Given the description of an element on the screen output the (x, y) to click on. 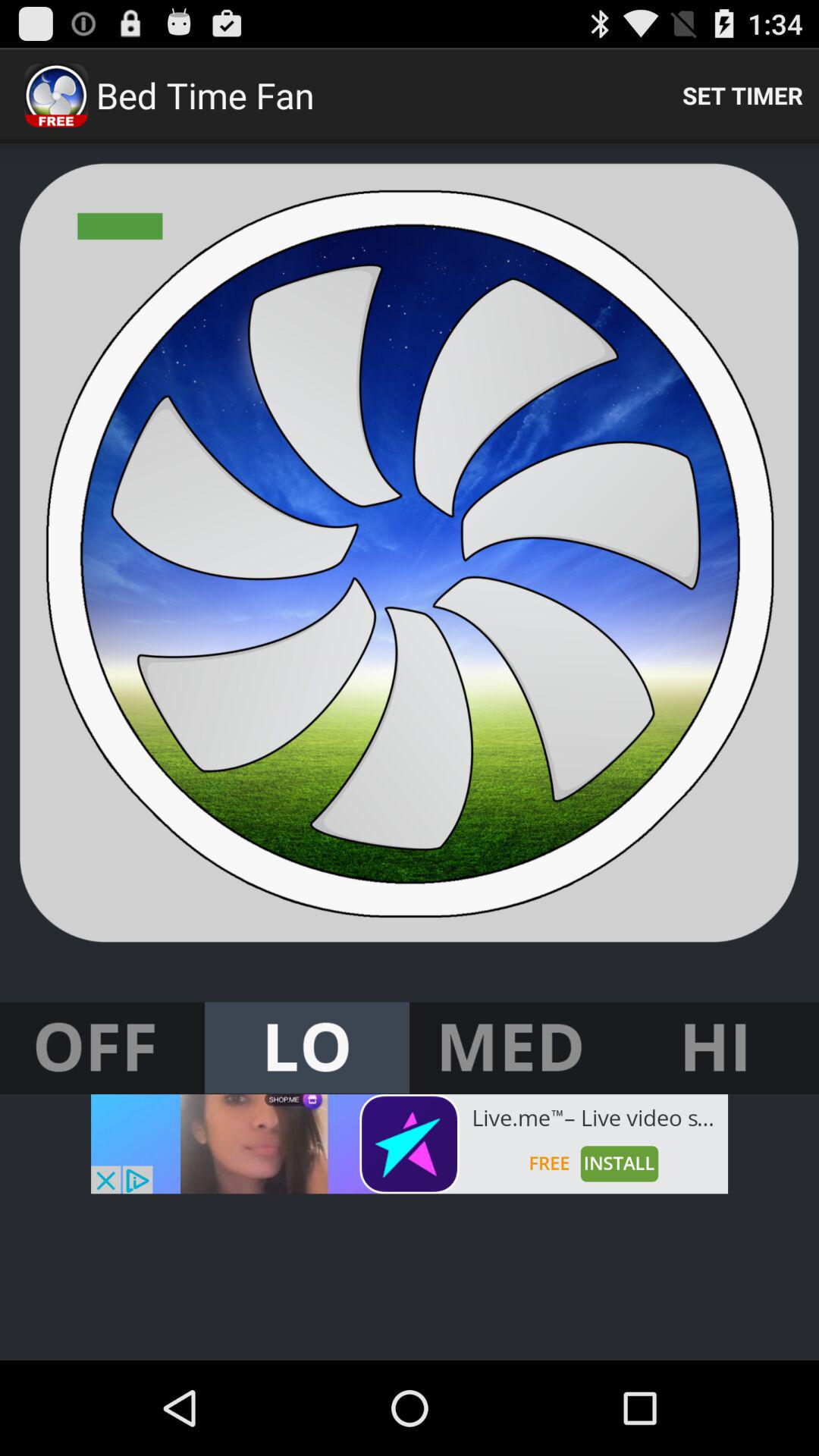
toggle sound for bed time fan app (306, 1048)
